Given the description of an element on the screen output the (x, y) to click on. 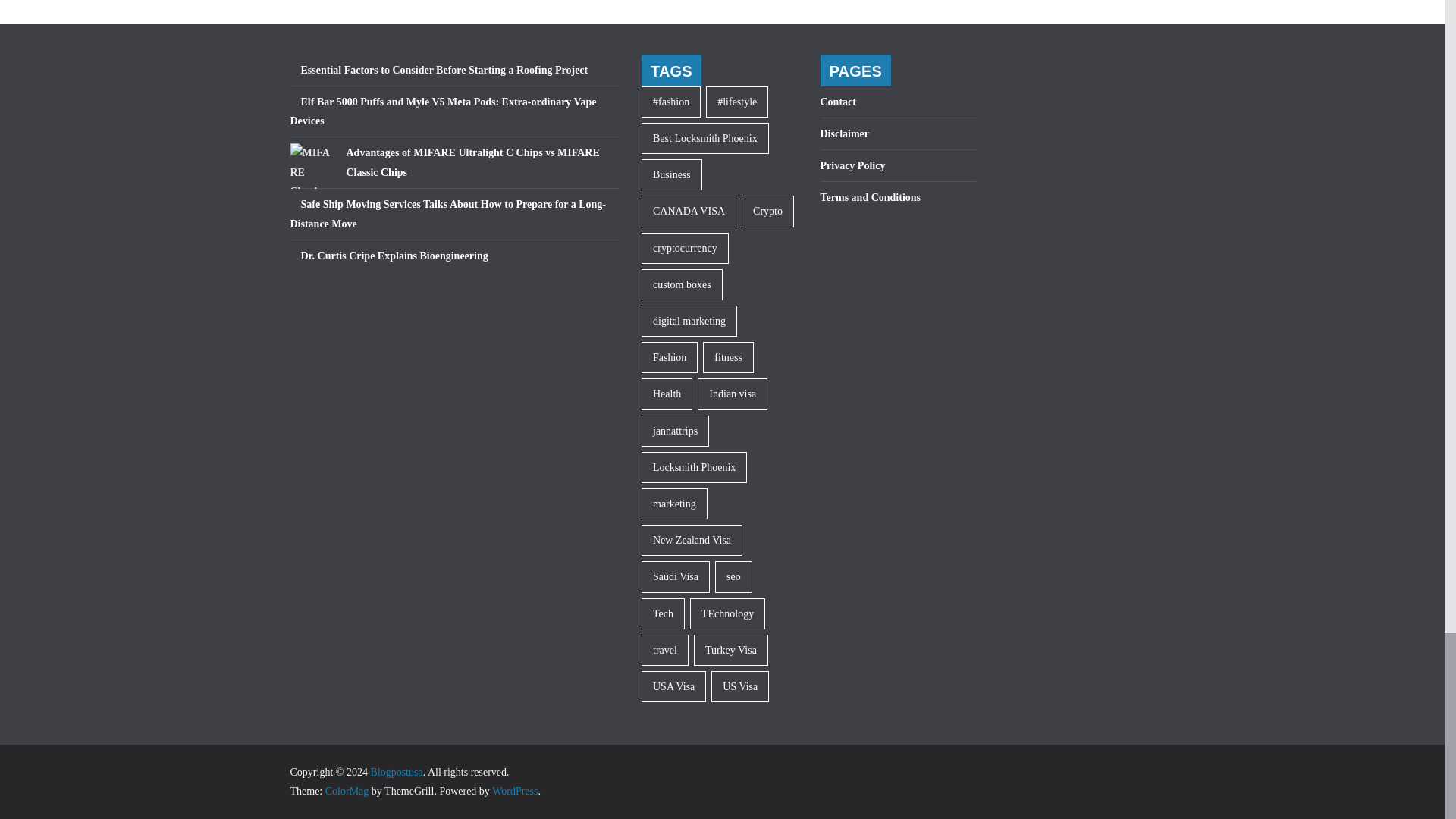
ColorMag (346, 790)
WordPress (514, 790)
Blogpostusa (395, 772)
